Given the description of an element on the screen output the (x, y) to click on. 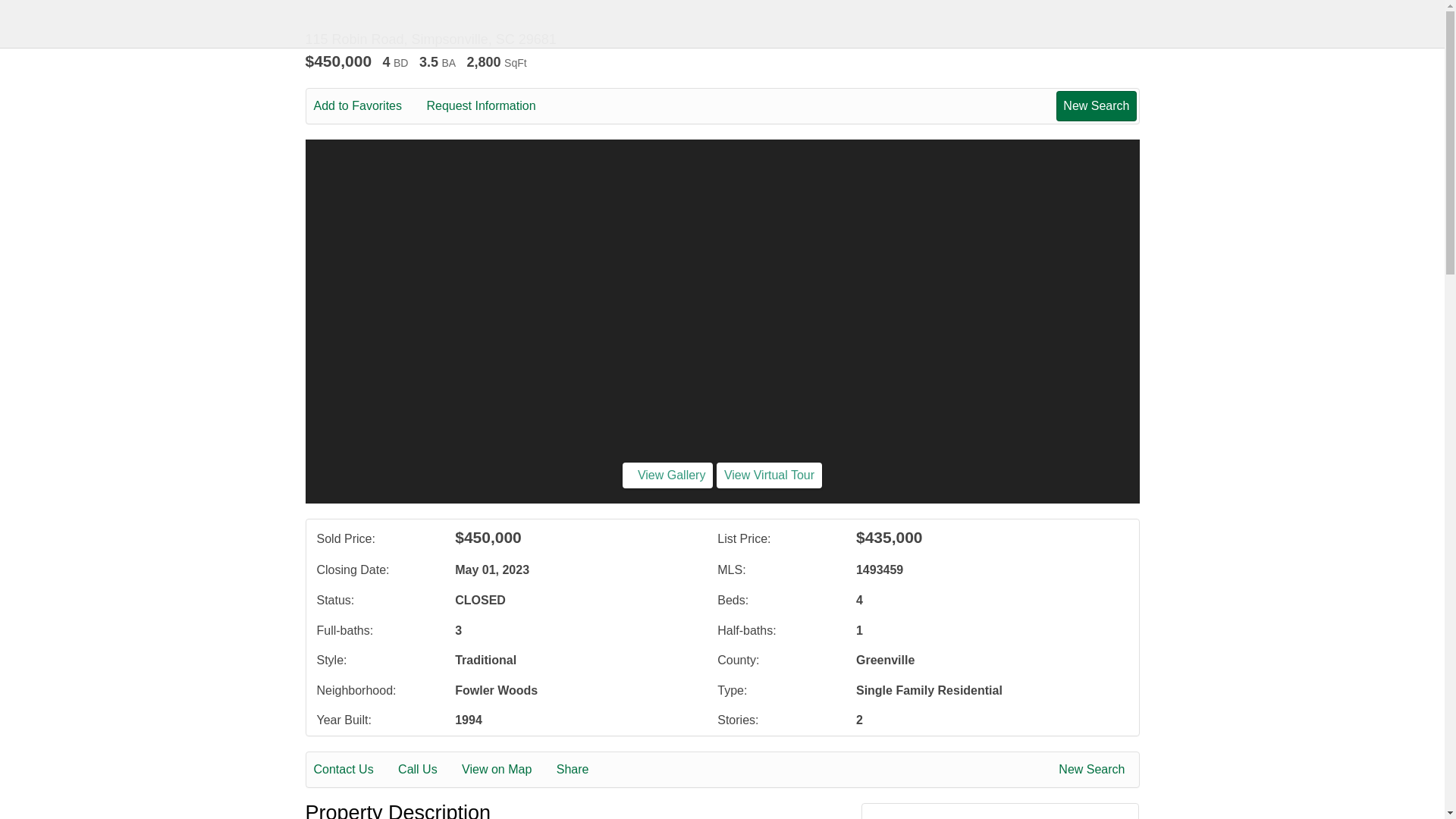
View Virtual Tour (769, 475)
New Search (1096, 105)
View Gallery (668, 474)
Add to Favorites (368, 106)
View Gallery (668, 475)
Request Information (491, 106)
Call Us (427, 769)
View on Map (507, 769)
Share (583, 769)
View Virtual Tour (769, 474)
